Given the description of an element on the screen output the (x, y) to click on. 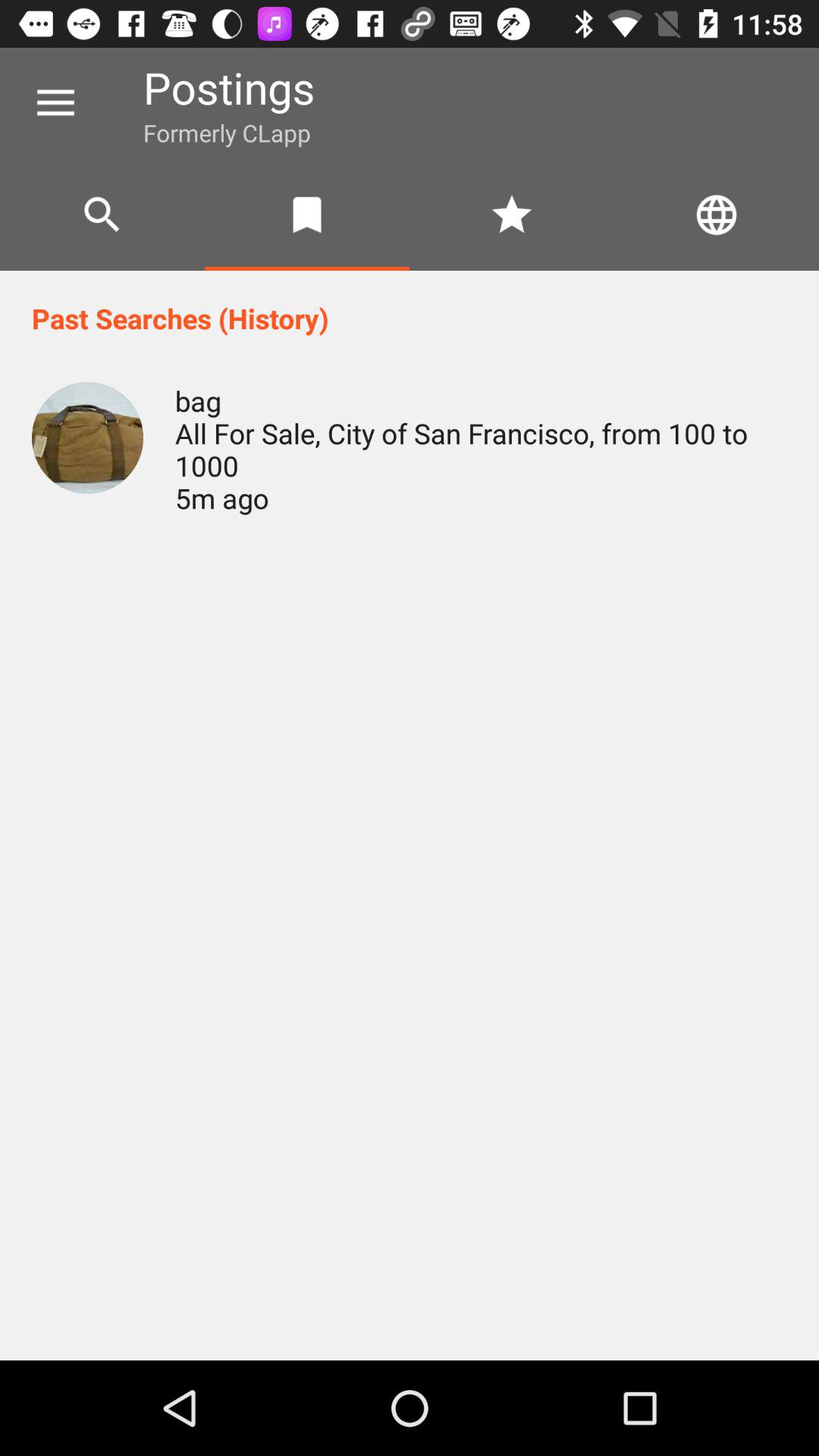
tap the item to the left of the postings icon (55, 103)
